Given the description of an element on the screen output the (x, y) to click on. 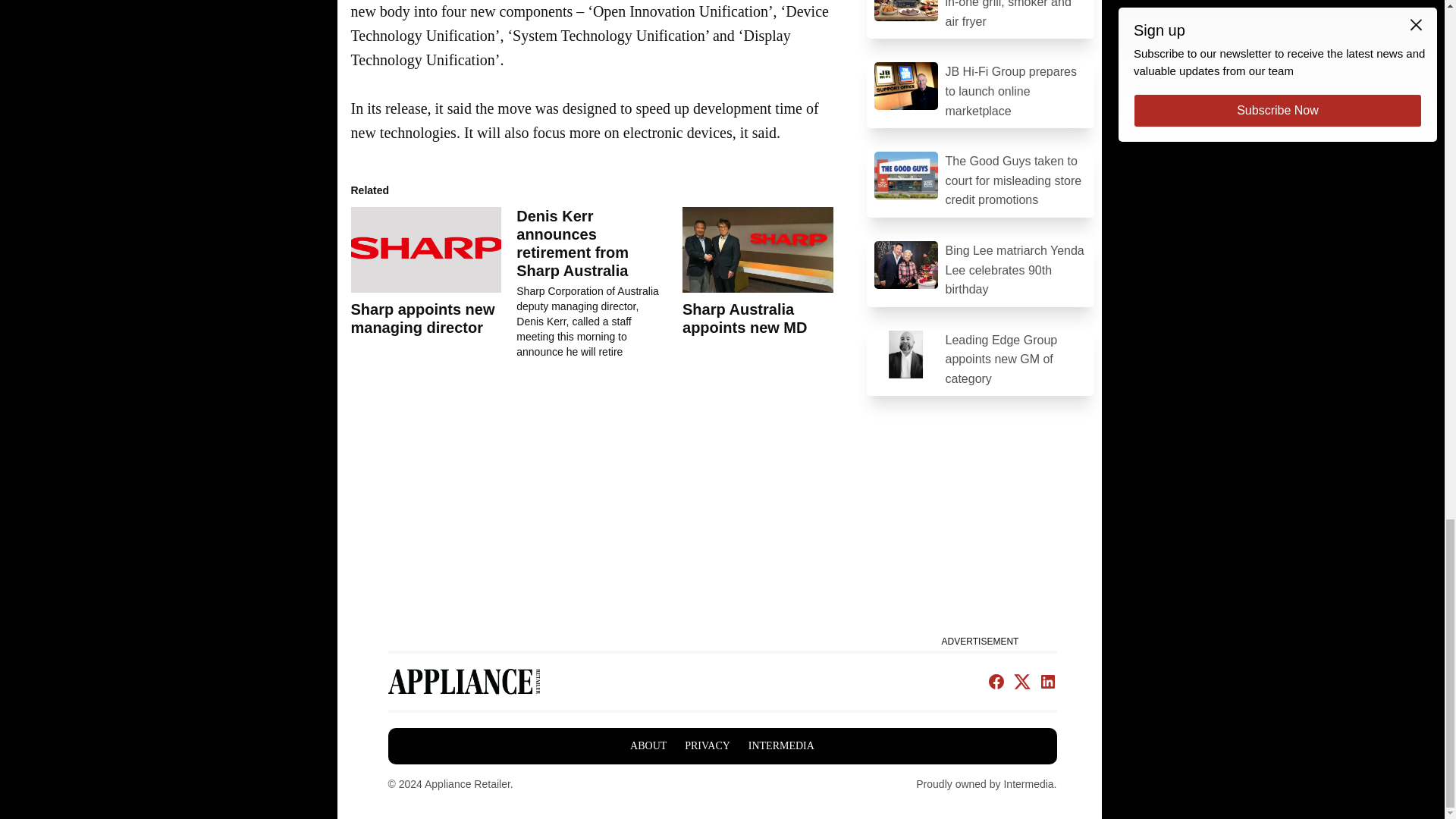
Bing Lee matriarch Yenda Lee celebrates 90th birthday (979, 269)
Denis Kerr announces retirement from Sharp Australia (599, 283)
Sharp appoints new managing director (422, 318)
Sharp Australia appoints new MD (744, 318)
Sharp appoints new managing director (425, 250)
Sharp Australia appoints new MD (757, 250)
Denis Kerr announces retirement from Sharp Australia (572, 243)
Leading Edge Group appoints new GM of category (979, 359)
3rd party ad content (979, 535)
JB Hi-Fi Group prepares to launch online marketplace (979, 91)
